Given the description of an element on the screen output the (x, y) to click on. 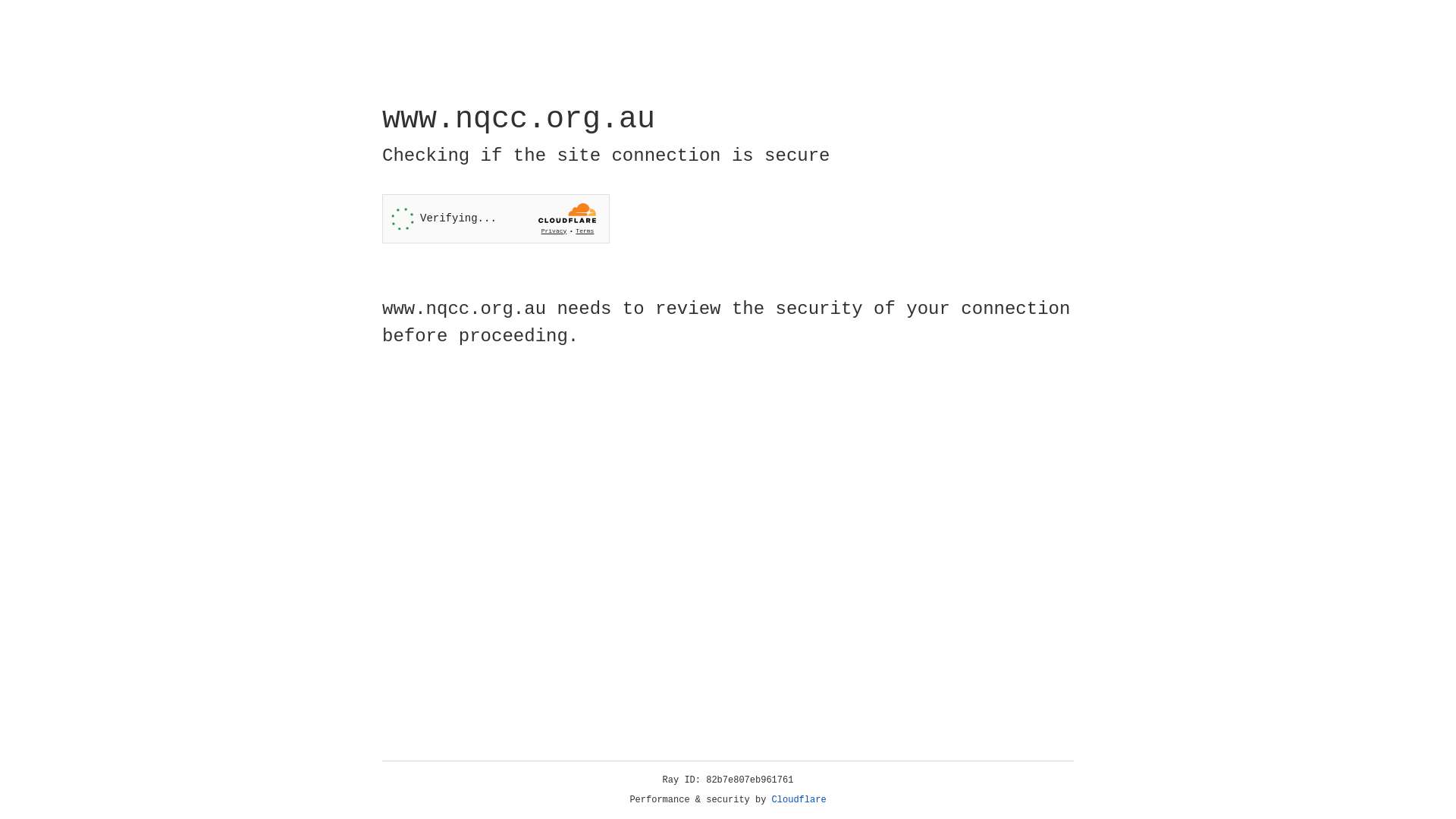
Cloudflare Element type: text (798, 799)
Widget containing a Cloudflare security challenge Element type: hover (495, 218)
